Given the description of an element on the screen output the (x, y) to click on. 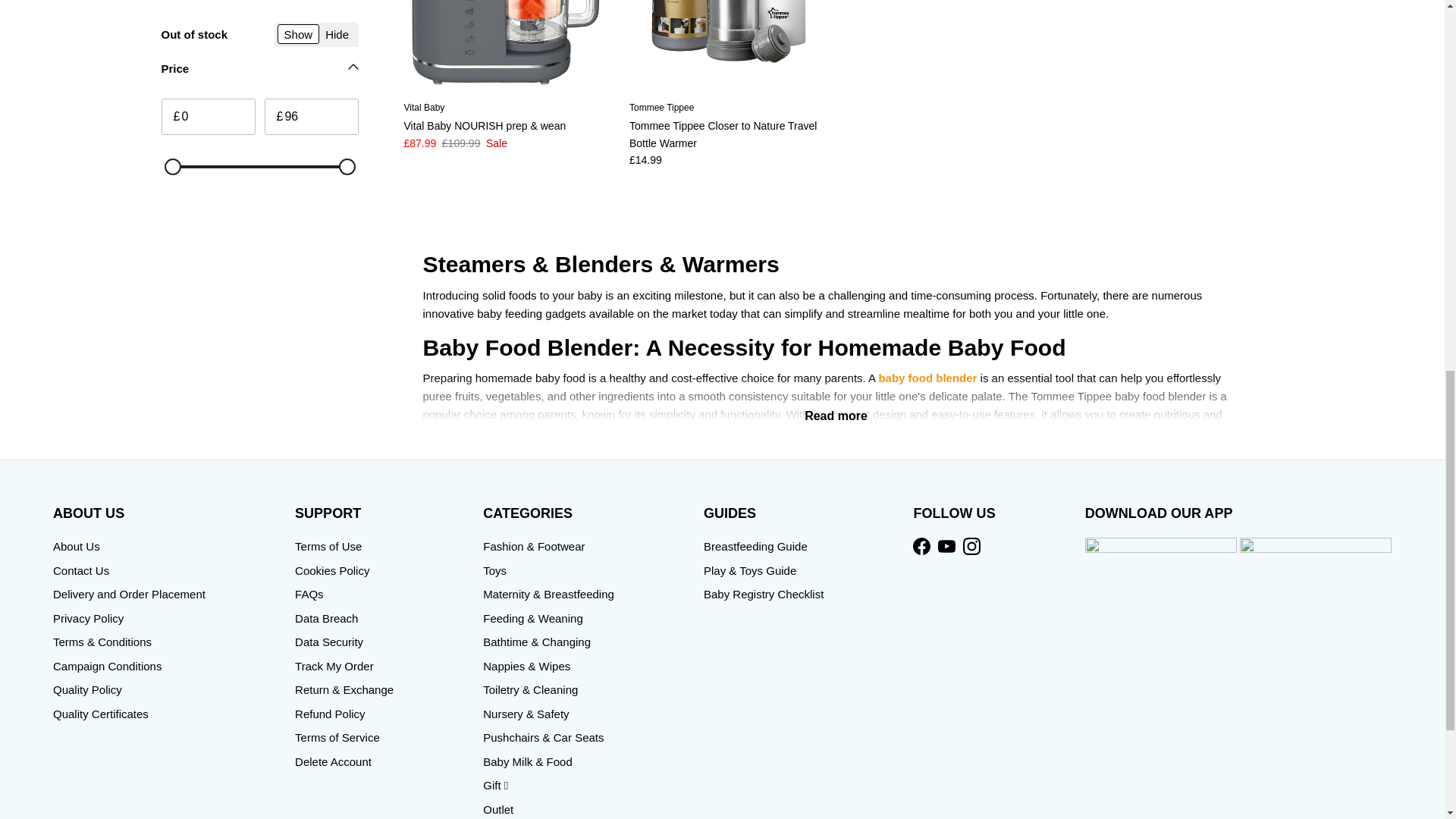
ebebek on YouTube (946, 546)
ebebek on Facebook (921, 546)
ebebek on Instagram (970, 546)
